Given the description of an element on the screen output the (x, y) to click on. 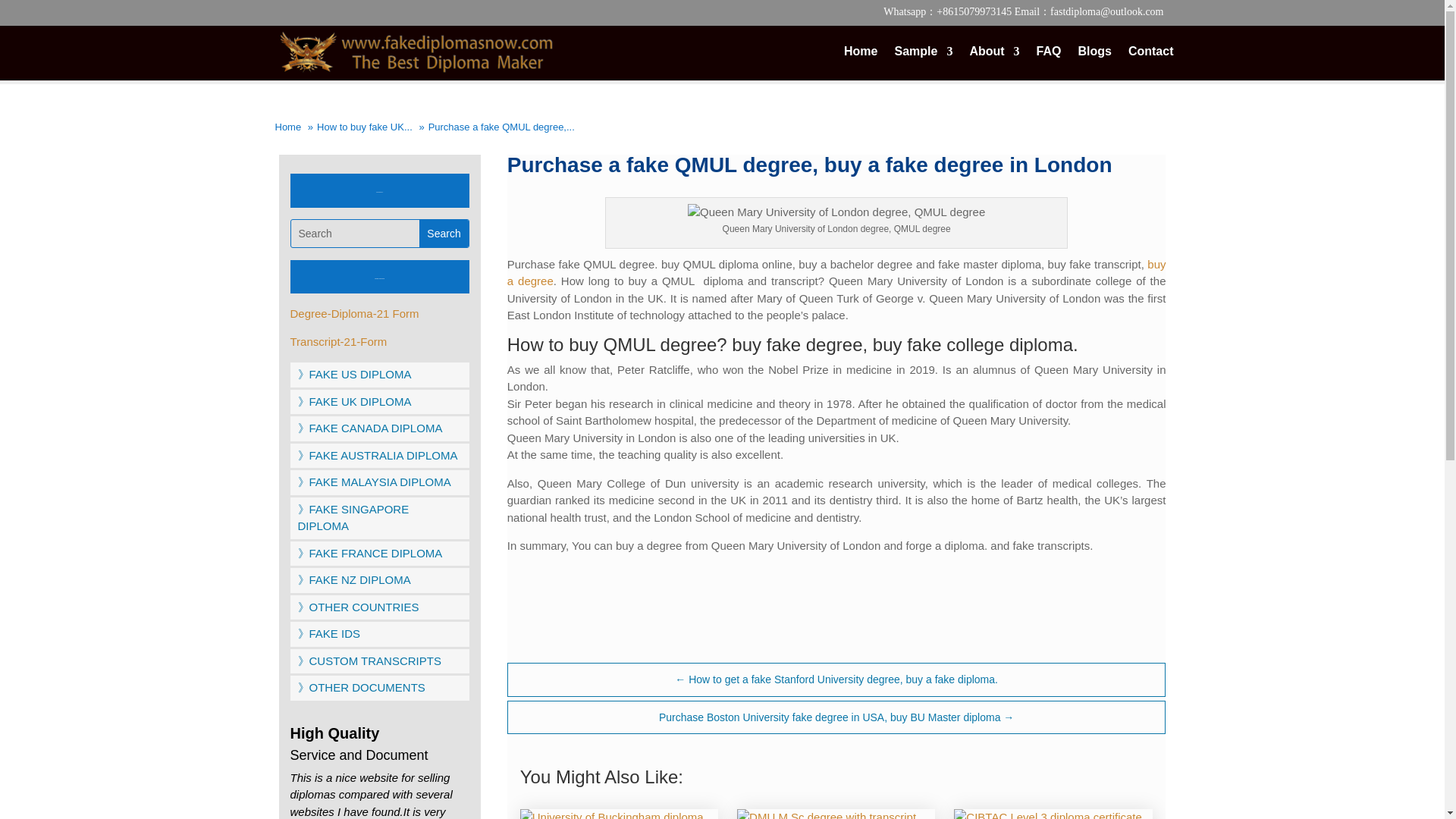
FAKE IDS (328, 633)
Fake Canada diplomas (369, 427)
How to buy fake UK... (364, 127)
Home (288, 127)
Fake Diploma About us (994, 62)
Contact (1150, 62)
Fake Canada diplomas (353, 400)
Fake Canada diplomas (373, 481)
Degree-Diploma-21 Form (354, 313)
